Given the description of an element on the screen output the (x, y) to click on. 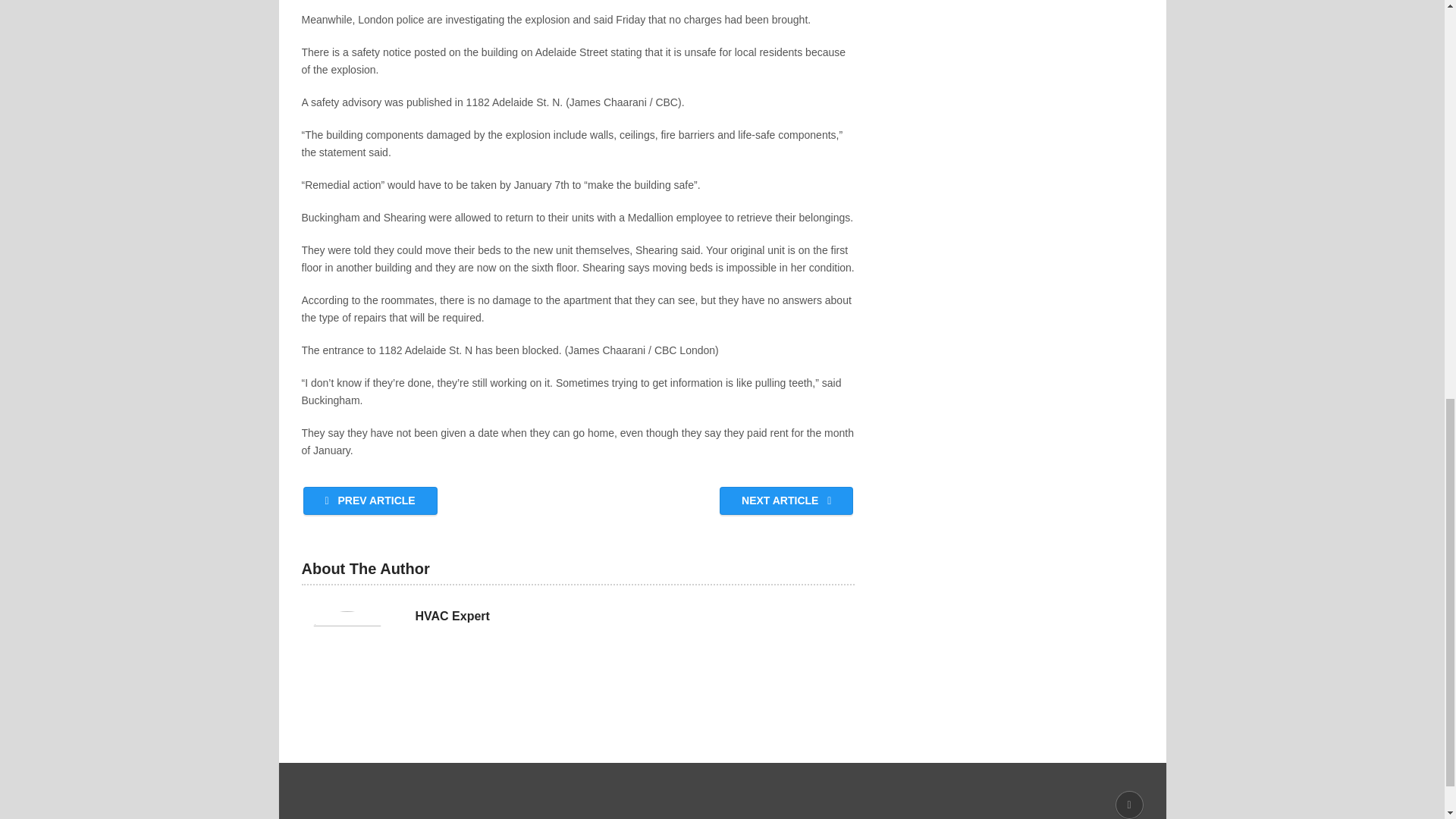
NEXT ARTICLE (786, 500)
PREV ARTICLE (370, 500)
HVAC Expert (451, 616)
